Given the description of an element on the screen output the (x, y) to click on. 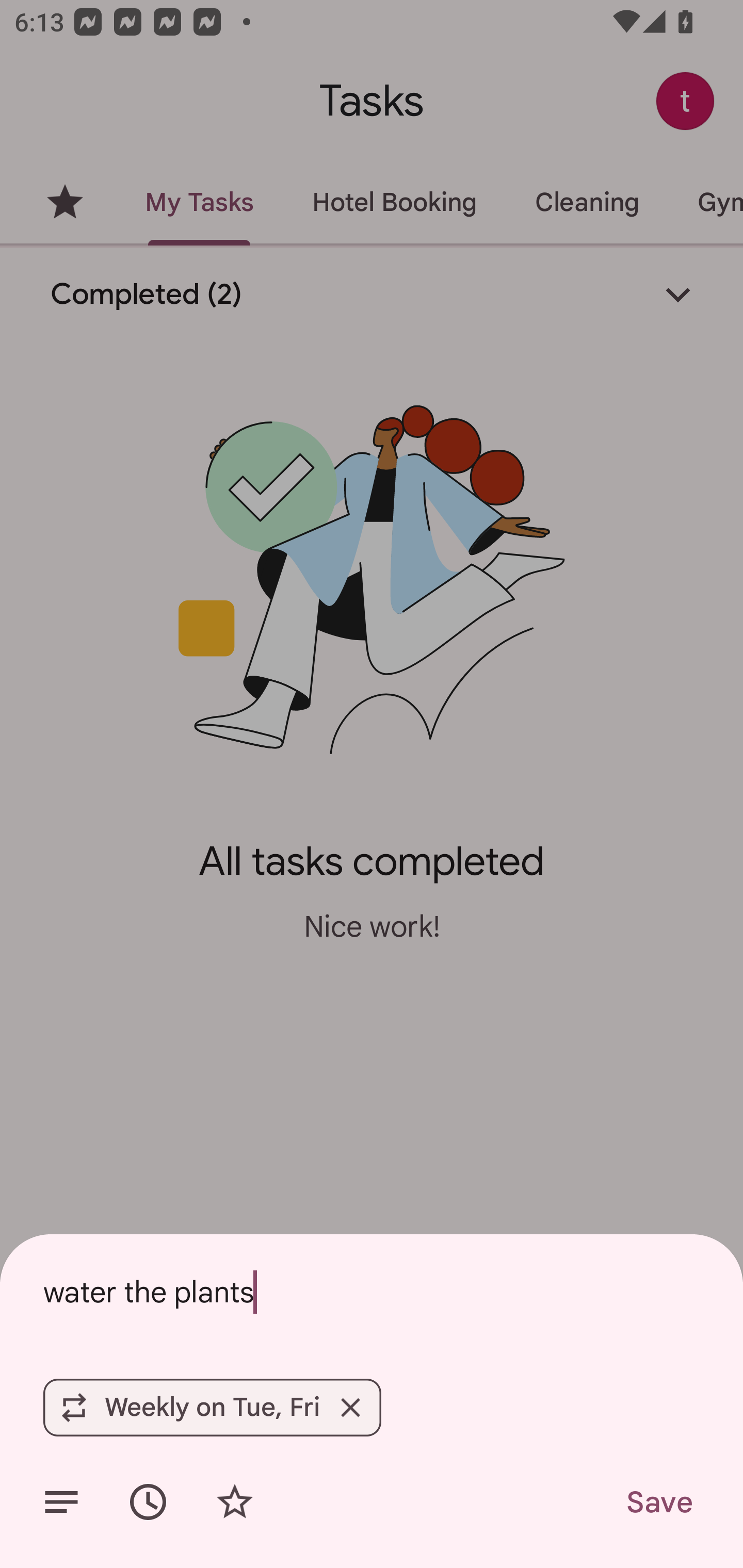
water the plants (371, 1291)
Weekly on Tue, Fri Remove Weekly on Tue, Fri (212, 1407)
Save (659, 1501)
Add details (60, 1501)
Set date/time (147, 1501)
Add star (234, 1501)
